Given the description of an element on the screen output the (x, y) to click on. 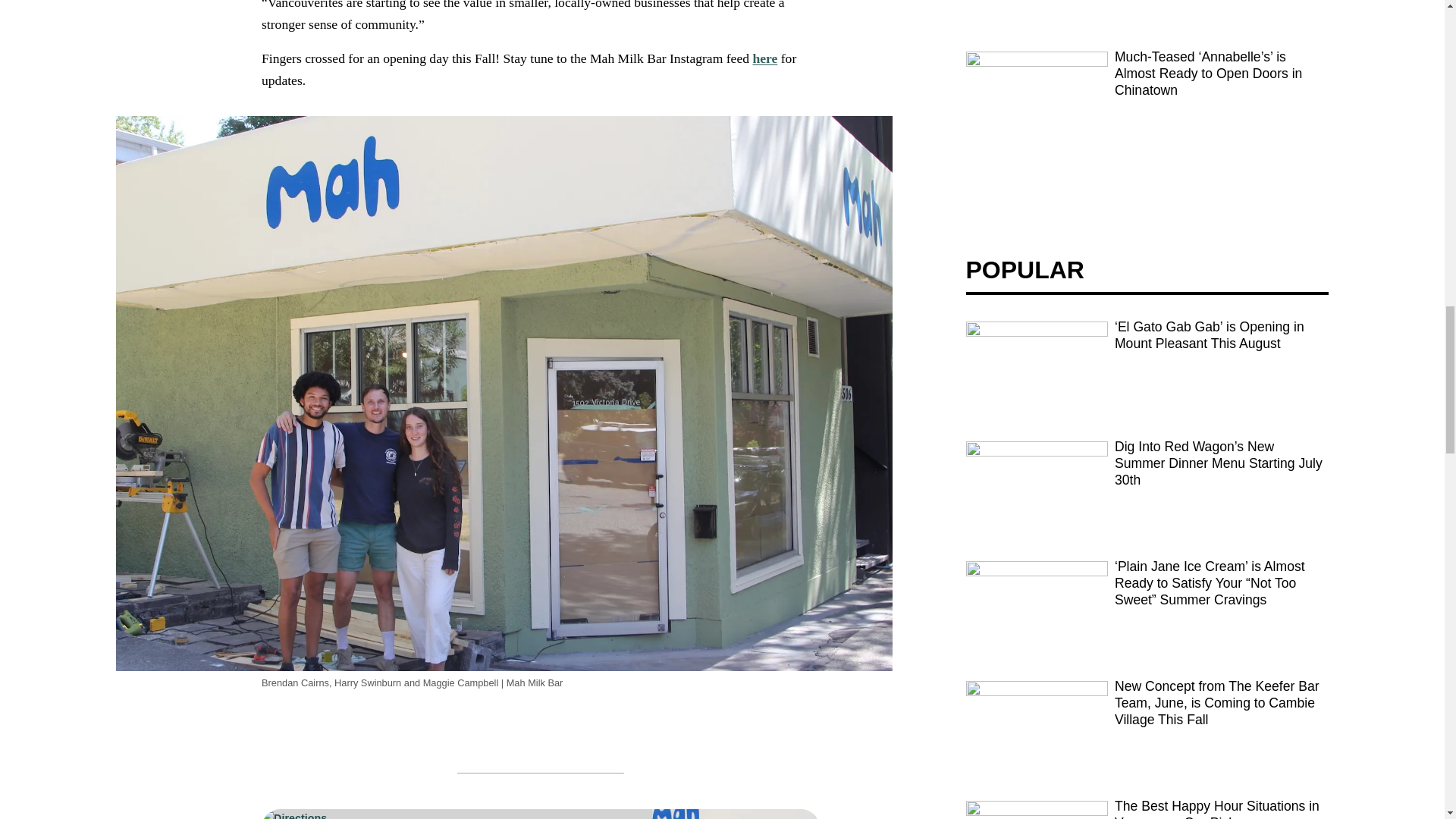
here (764, 58)
Directions (455, 814)
